Given the description of an element on the screen output the (x, y) to click on. 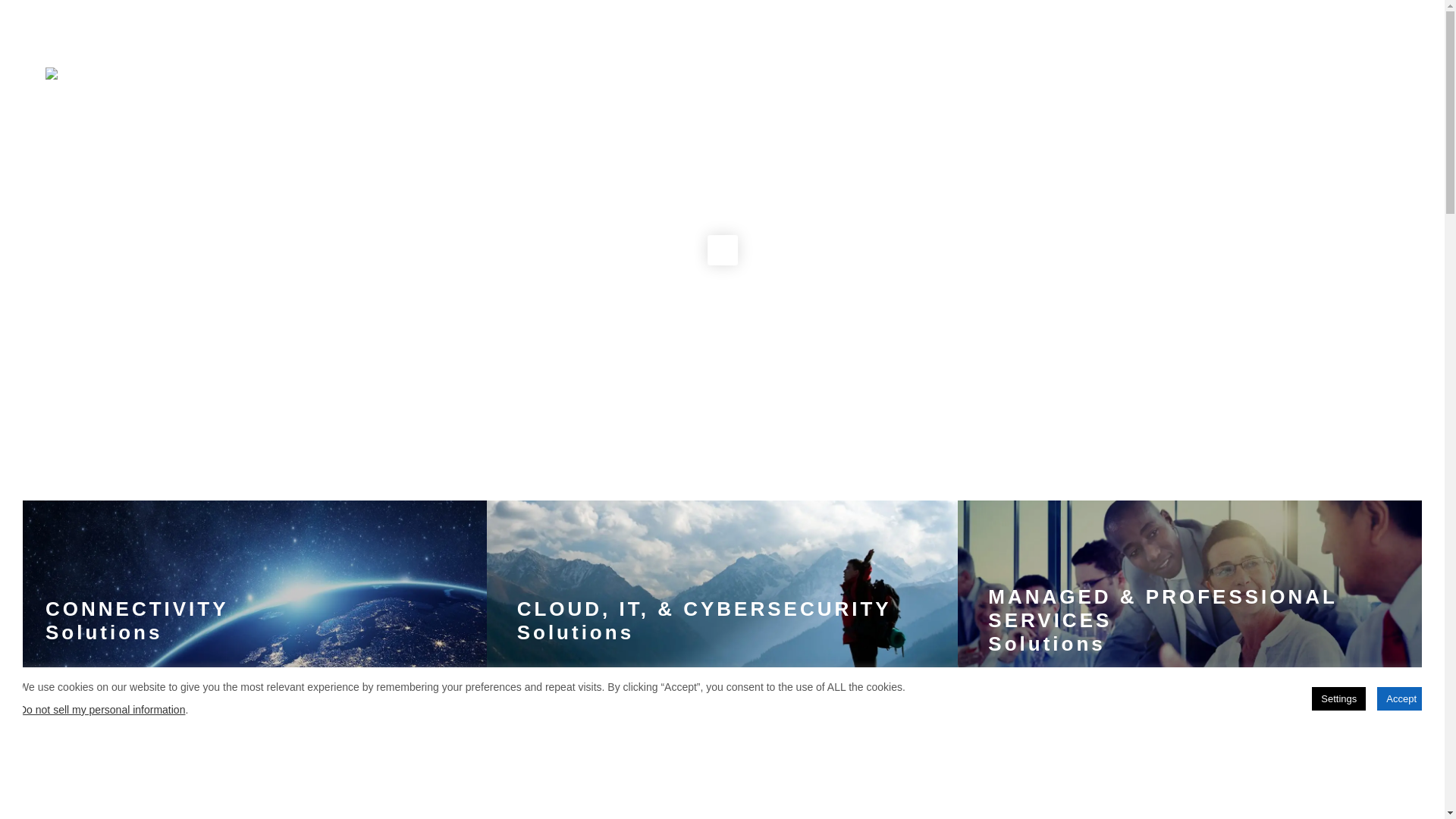
MANAGED SERVICES (1267, 83)
Login on site (361, 39)
CONNECTIVITY (1008, 83)
